Given the description of an element on the screen output the (x, y) to click on. 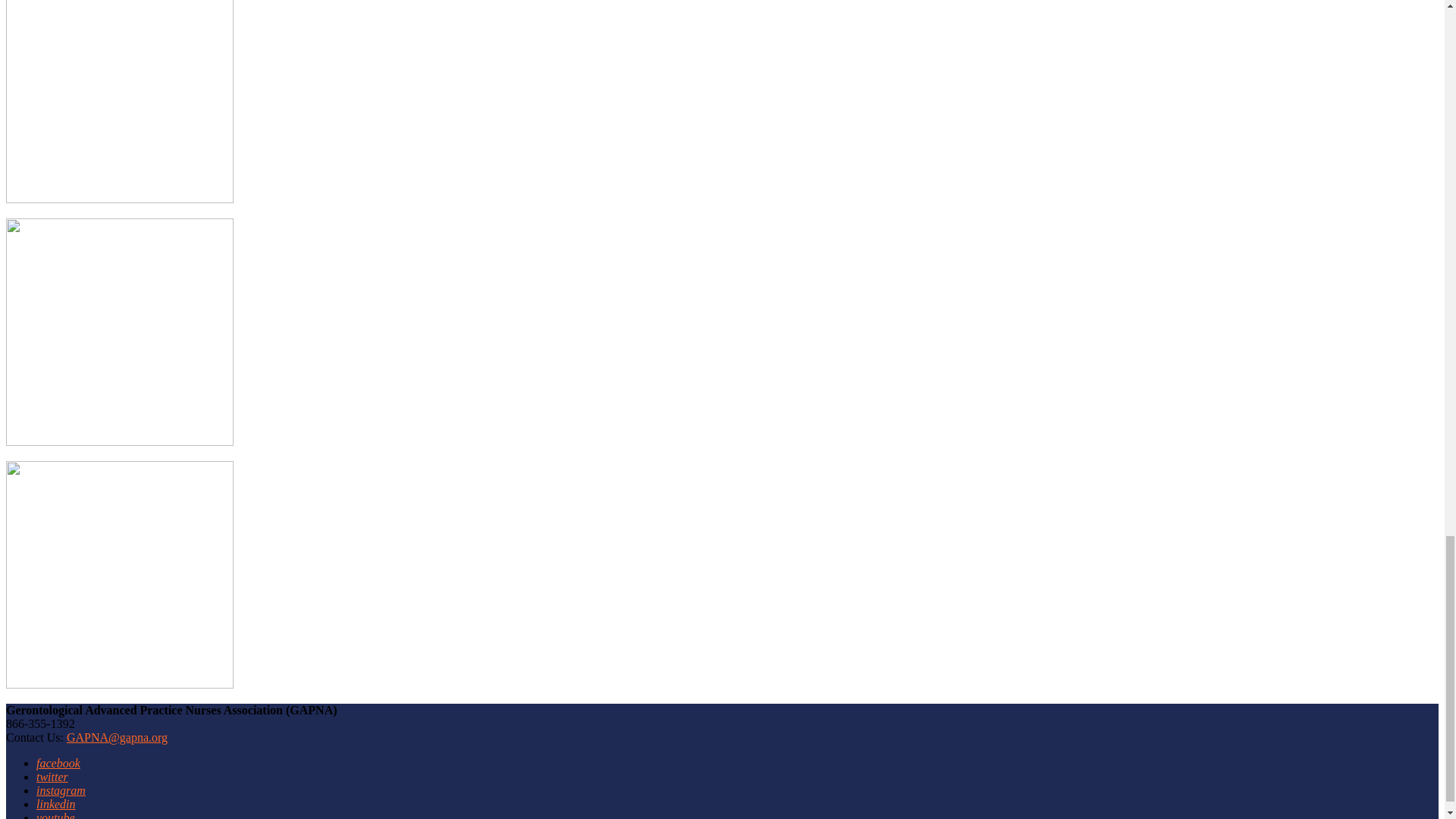
Read more (118, 684)
